Given the description of an element on the screen output the (x, y) to click on. 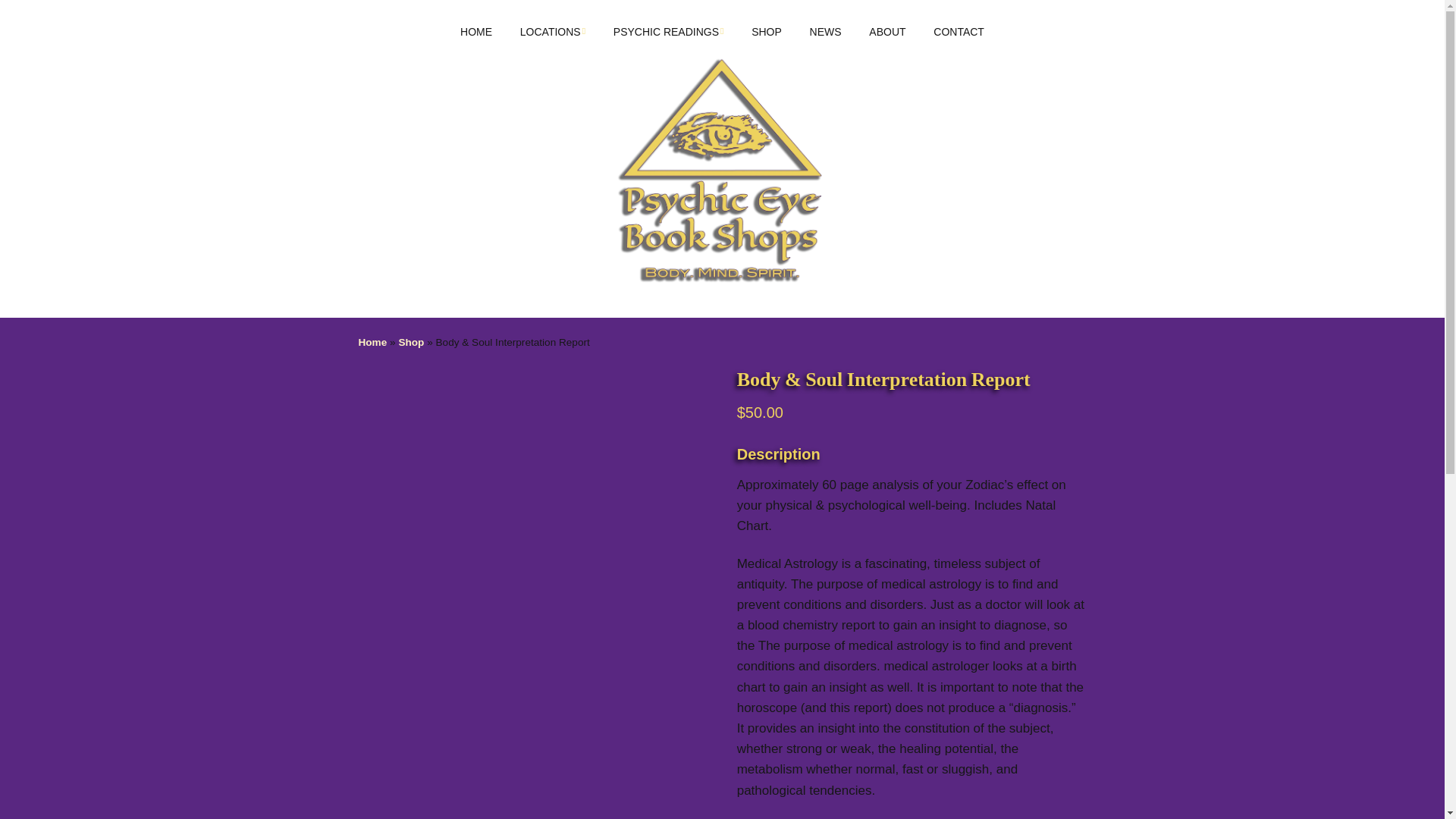
ABOUT (887, 32)
CONTACT (958, 32)
Shop (410, 342)
SHOP (766, 32)
NEWS (825, 32)
PSYCHIC READINGS (668, 32)
HOME (475, 32)
LOCATIONS (552, 32)
Home (372, 342)
